Given the description of an element on the screen output the (x, y) to click on. 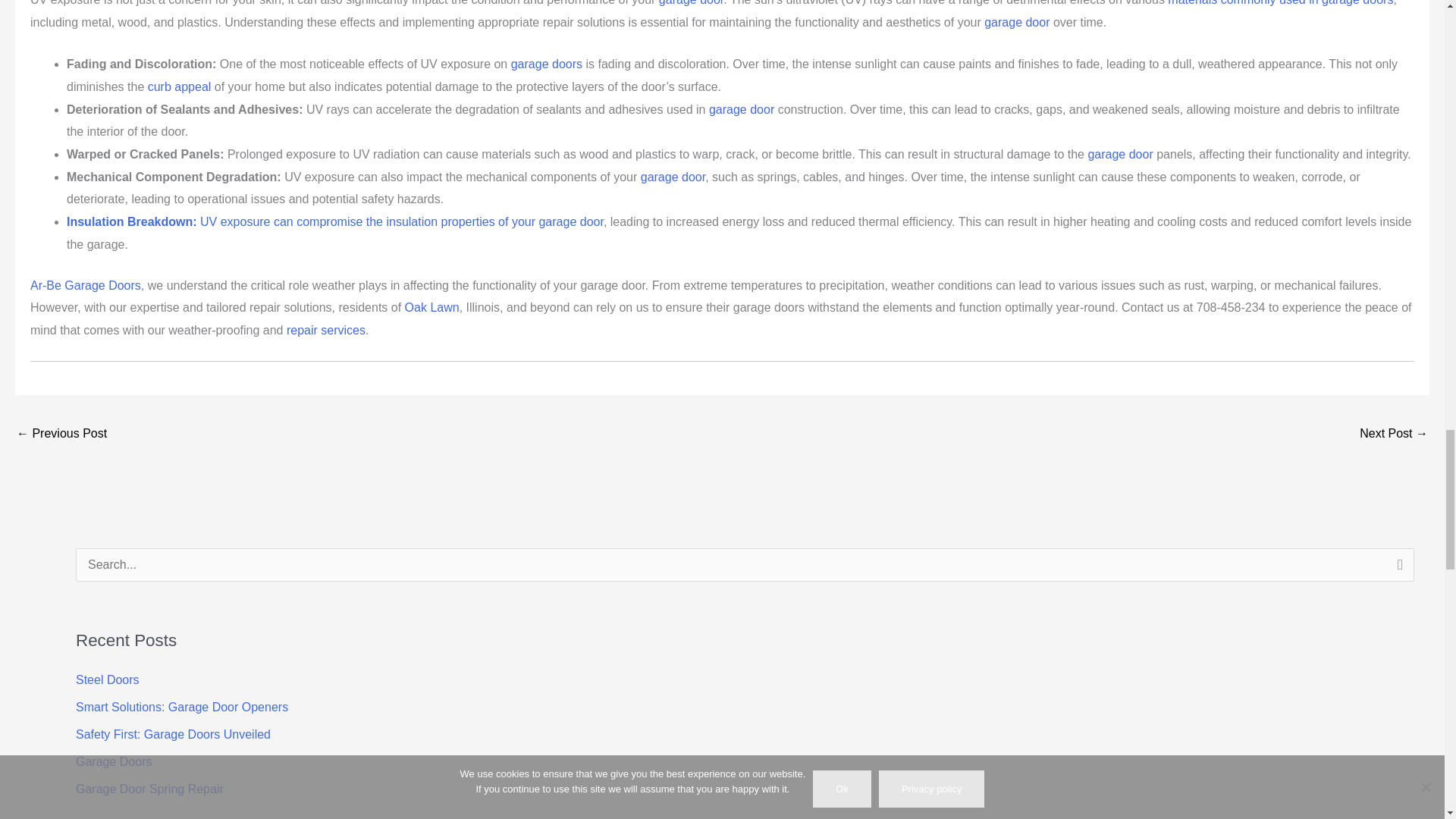
How to Choose the Right Garage Door Repair Company (61, 434)
